Given the description of an element on the screen output the (x, y) to click on. 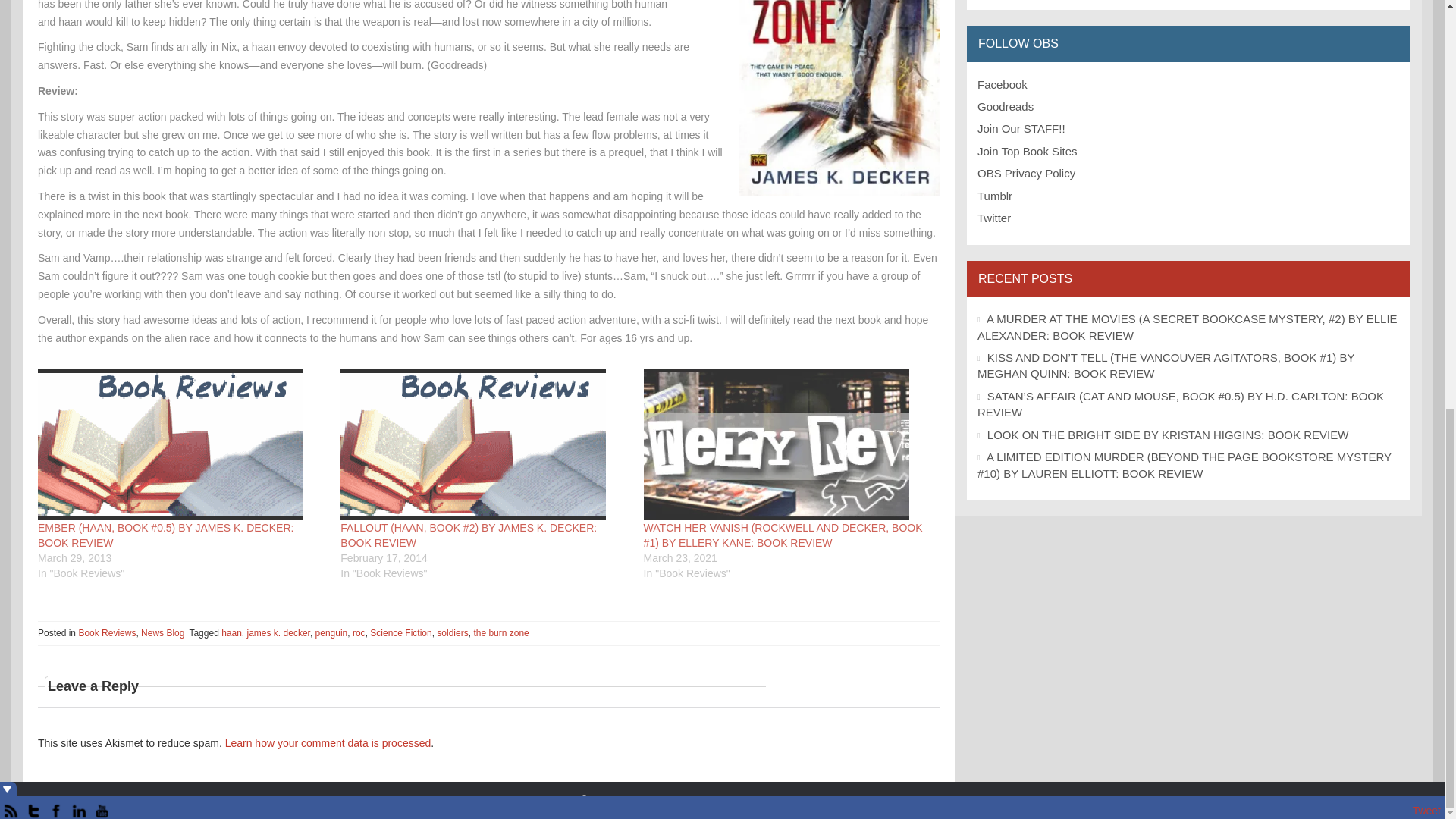
the-burn-zone-haan-james-k-decker (839, 98)
Read our reviews on GoodReads.com (1004, 106)
Follow us on our Facebook Group (1001, 83)
